Given the description of an element on the screen output the (x, y) to click on. 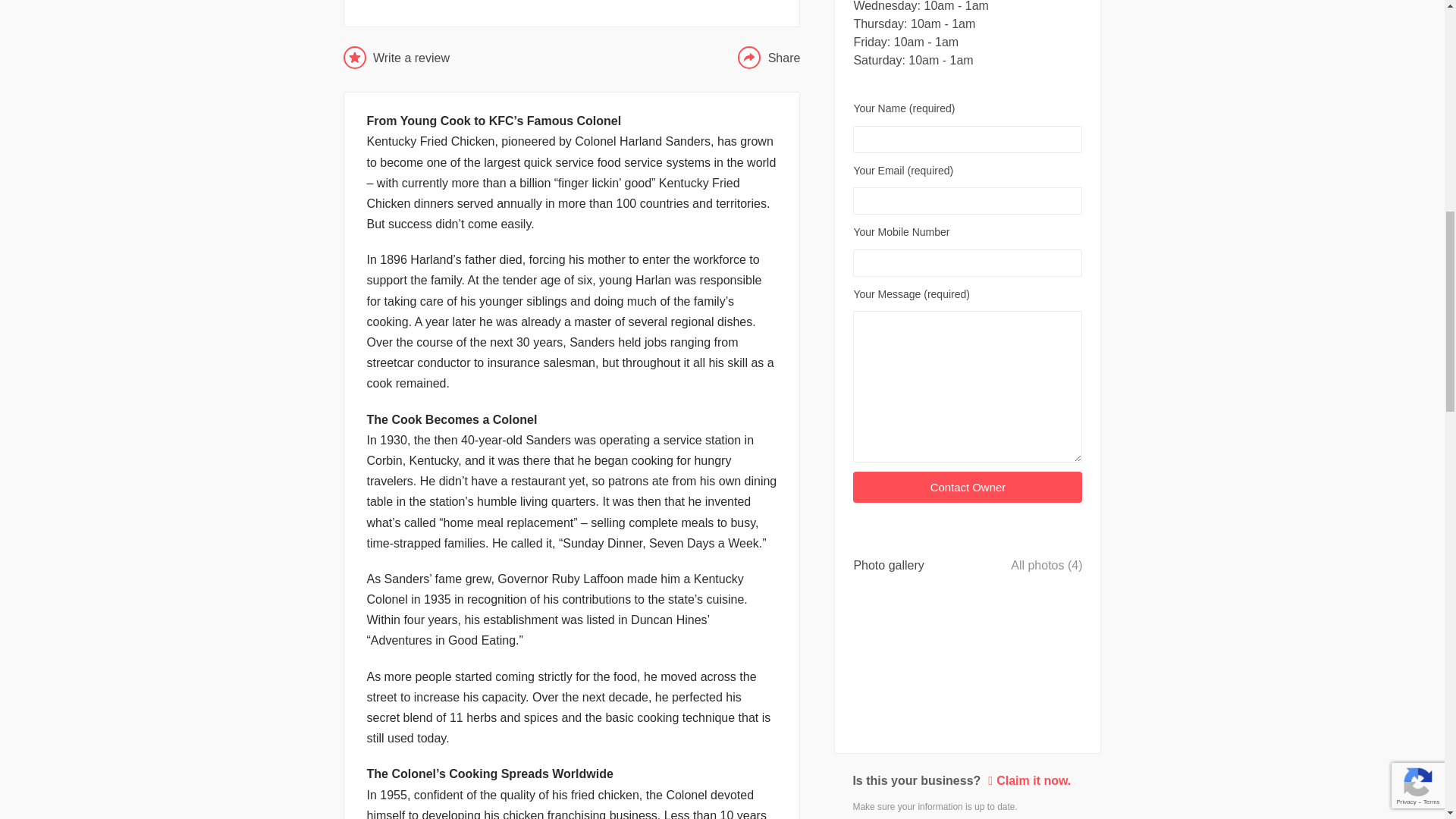
Contact Owner (967, 486)
Advertisement (571, 4)
